Given the description of an element on the screen output the (x, y) to click on. 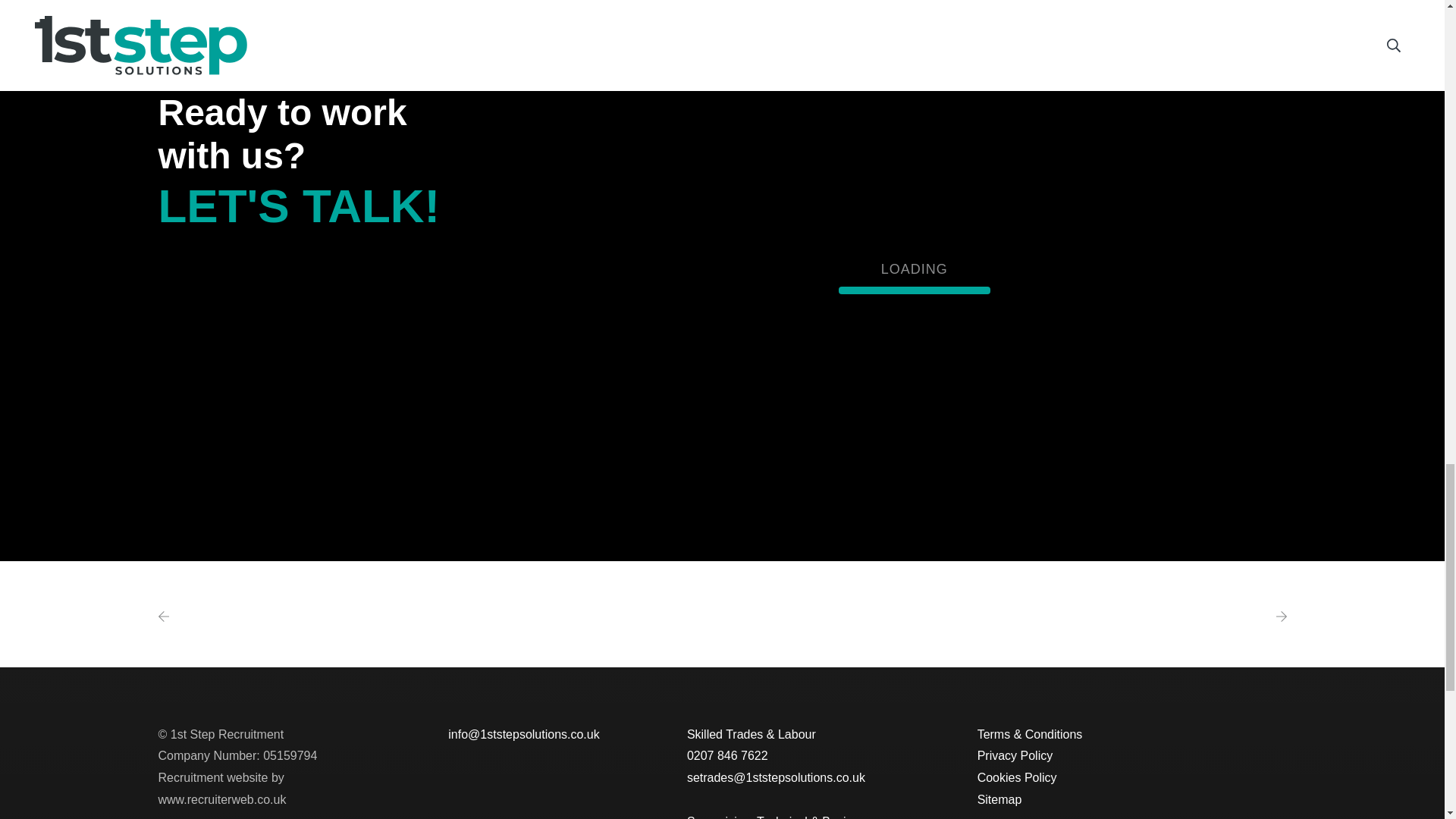
Recruitment website by www.recruiterweb.co.uk (221, 788)
Privacy Policy (1014, 755)
RecruiterWEB (221, 788)
Cookies Policy (1016, 777)
Sitemap (999, 799)
